Given the description of an element on the screen output the (x, y) to click on. 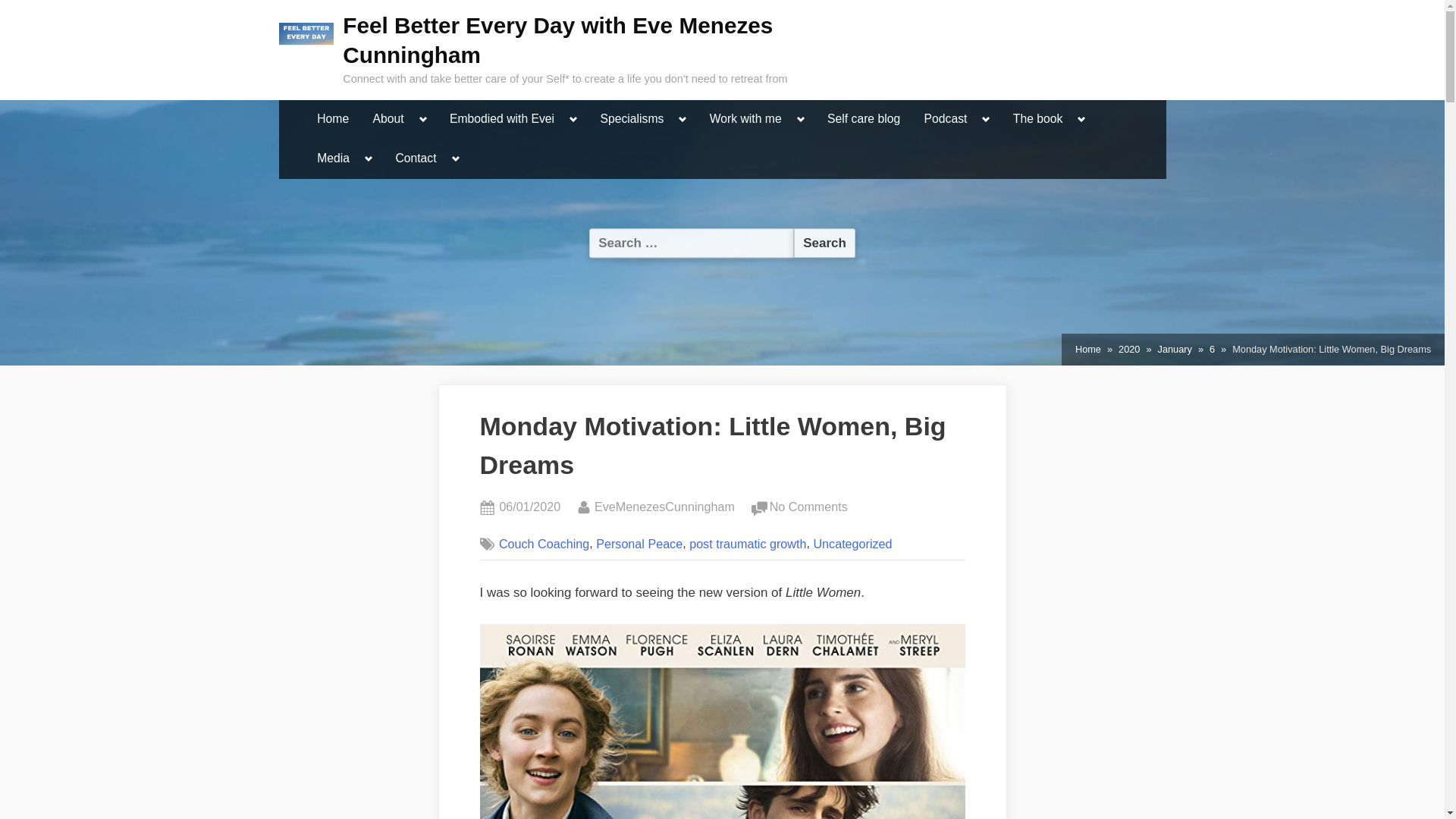
Embodied with Evei (501, 119)
Search (824, 242)
Specialisms (631, 119)
Toggle sub-menu (801, 119)
Feel Better Every Day with Eve Menezes Cunningham (557, 40)
About (388, 119)
Search (824, 242)
Work with me (745, 119)
Home (332, 119)
Toggle sub-menu (682, 119)
